Given the description of an element on the screen output the (x, y) to click on. 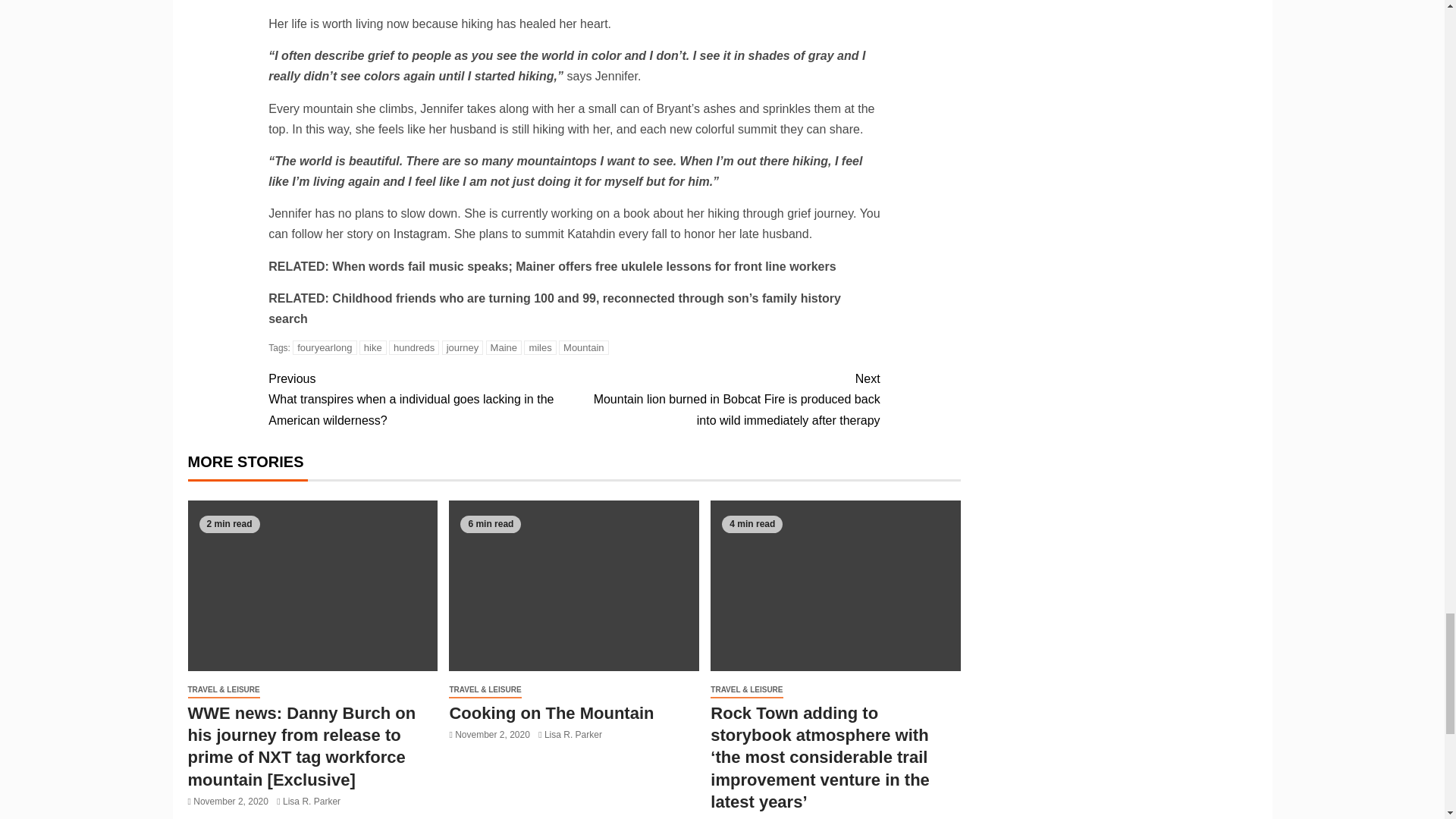
fouryearlong (324, 347)
Mountain (583, 347)
Instagram. (422, 233)
Maine (503, 347)
miles (540, 347)
journey (462, 347)
hike (373, 347)
hundreds (413, 347)
